Given the description of an element on the screen output the (x, y) to click on. 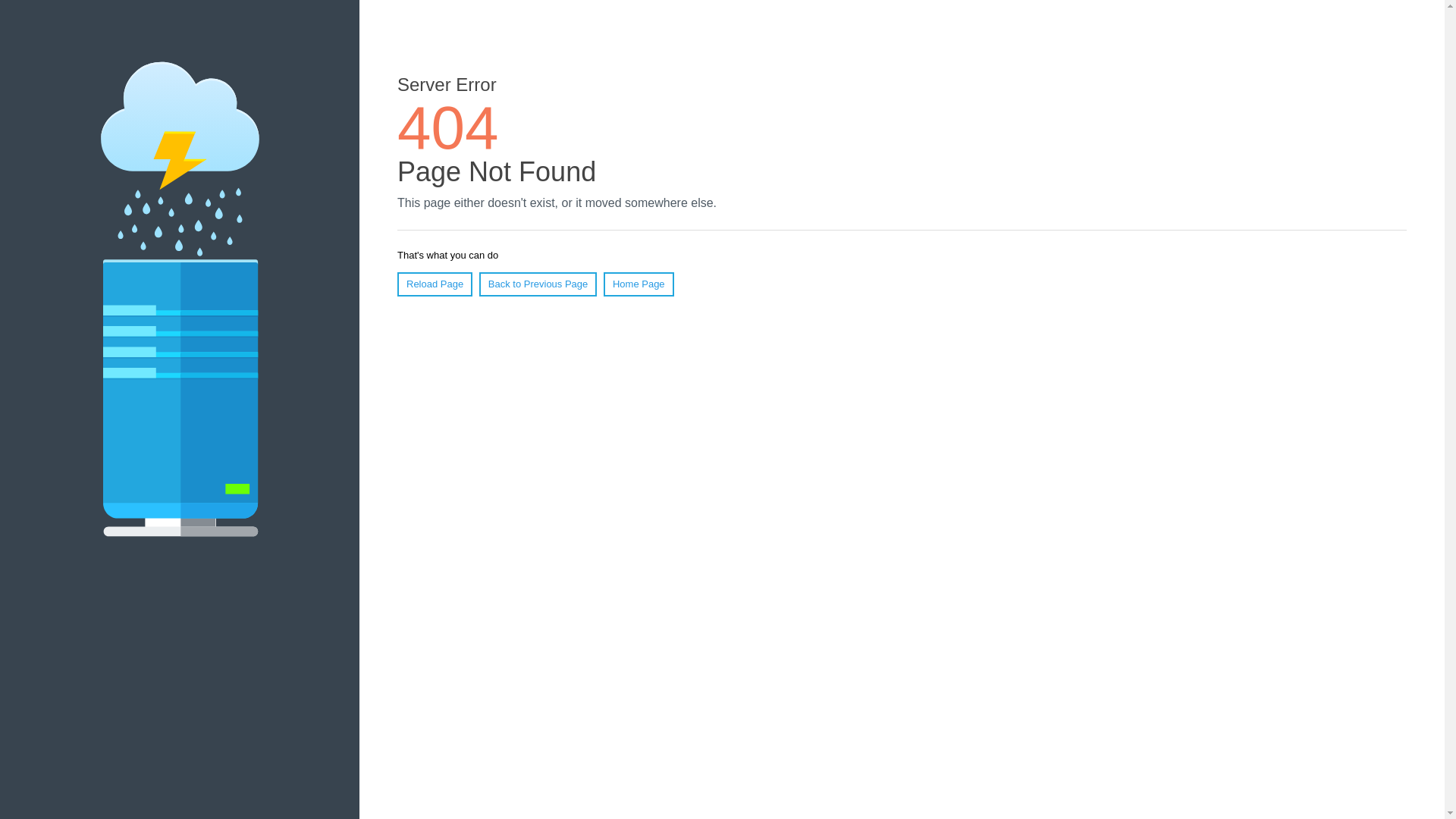
Home Page Element type: text (638, 284)
Back to Previous Page Element type: text (538, 284)
Reload Page Element type: text (434, 284)
